Given the description of an element on the screen output the (x, y) to click on. 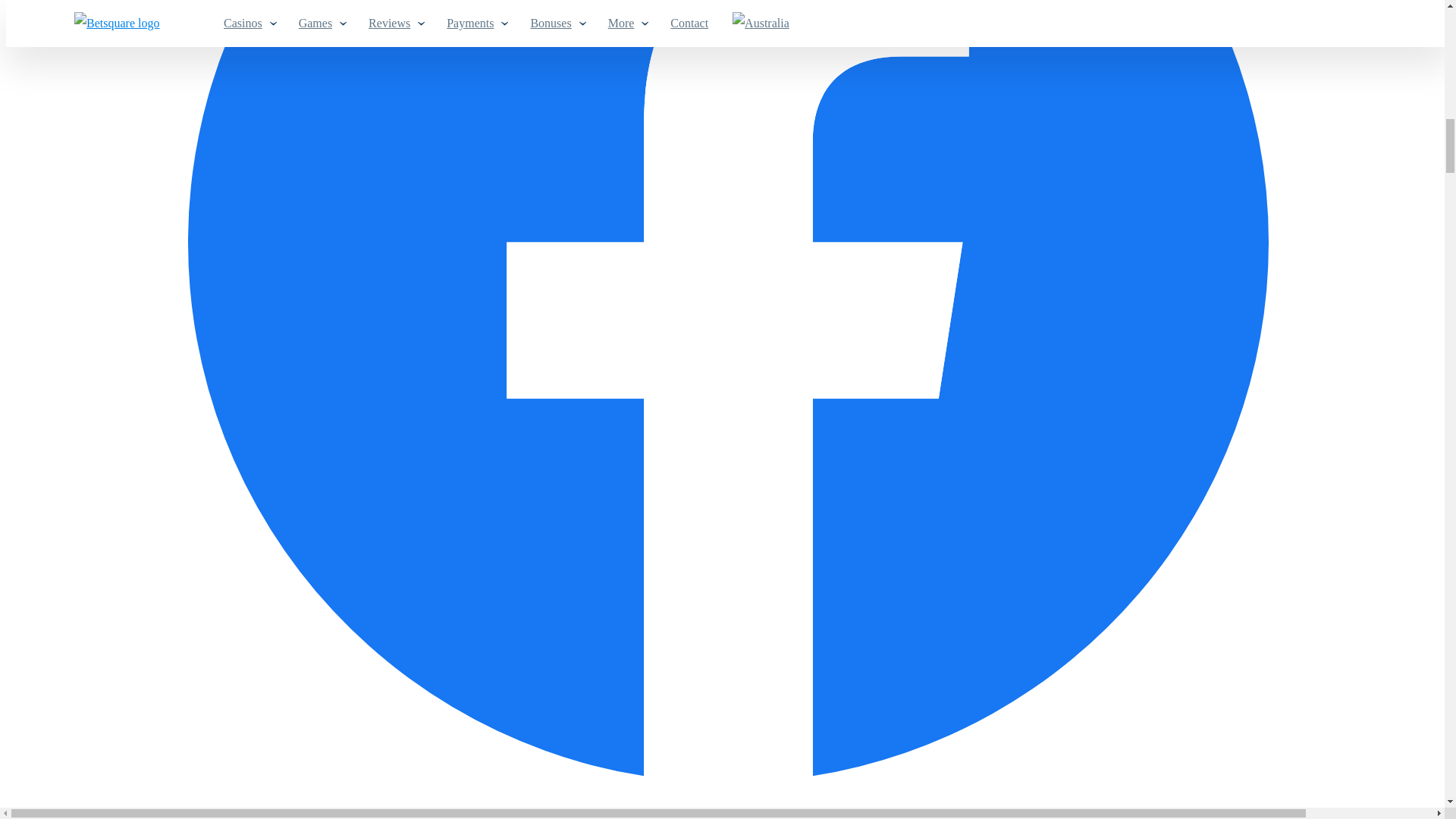
Facebook (727, 778)
